Given the description of an element on the screen output the (x, y) to click on. 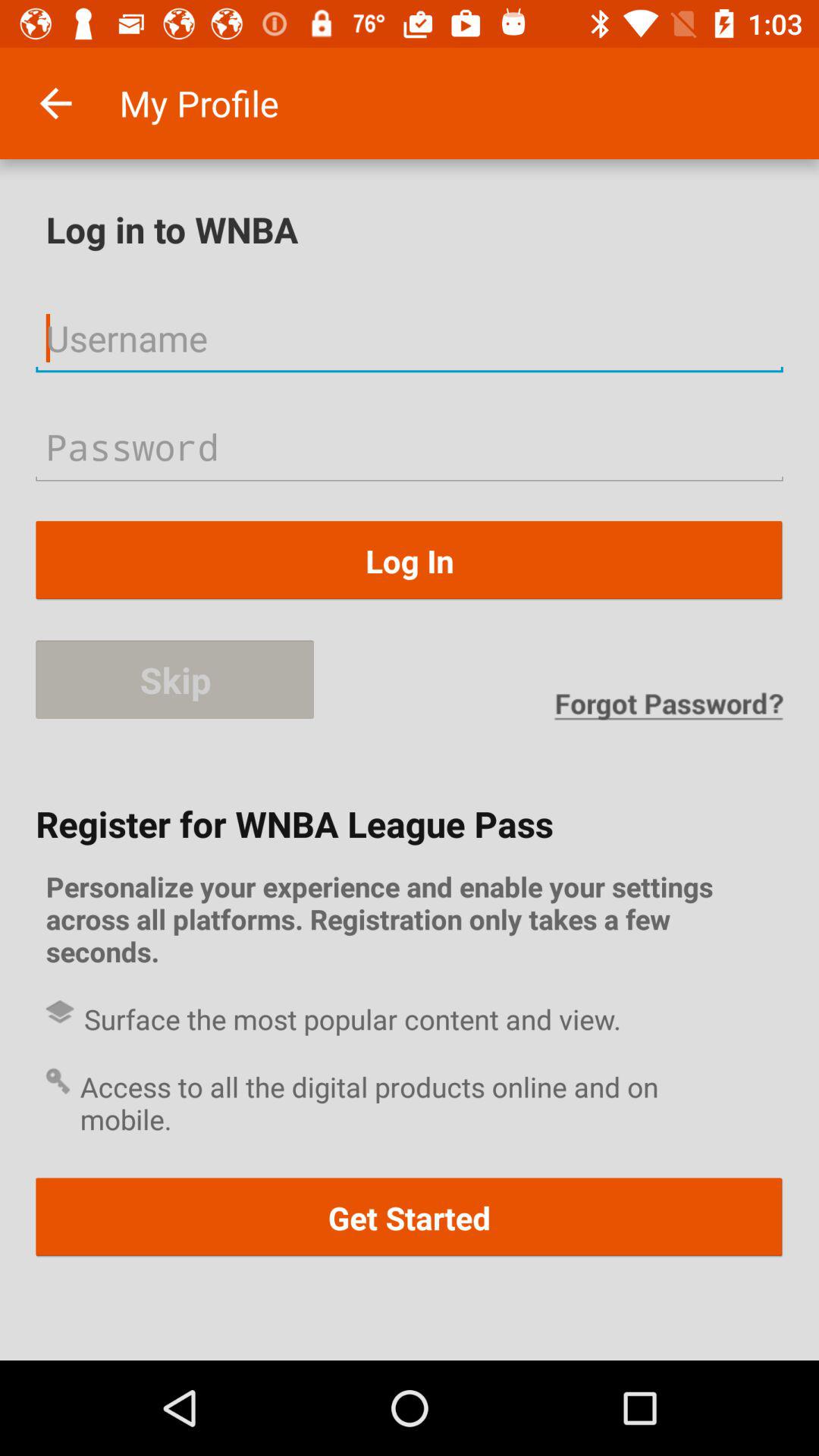
flip until the get started (409, 1217)
